Given the description of an element on the screen output the (x, y) to click on. 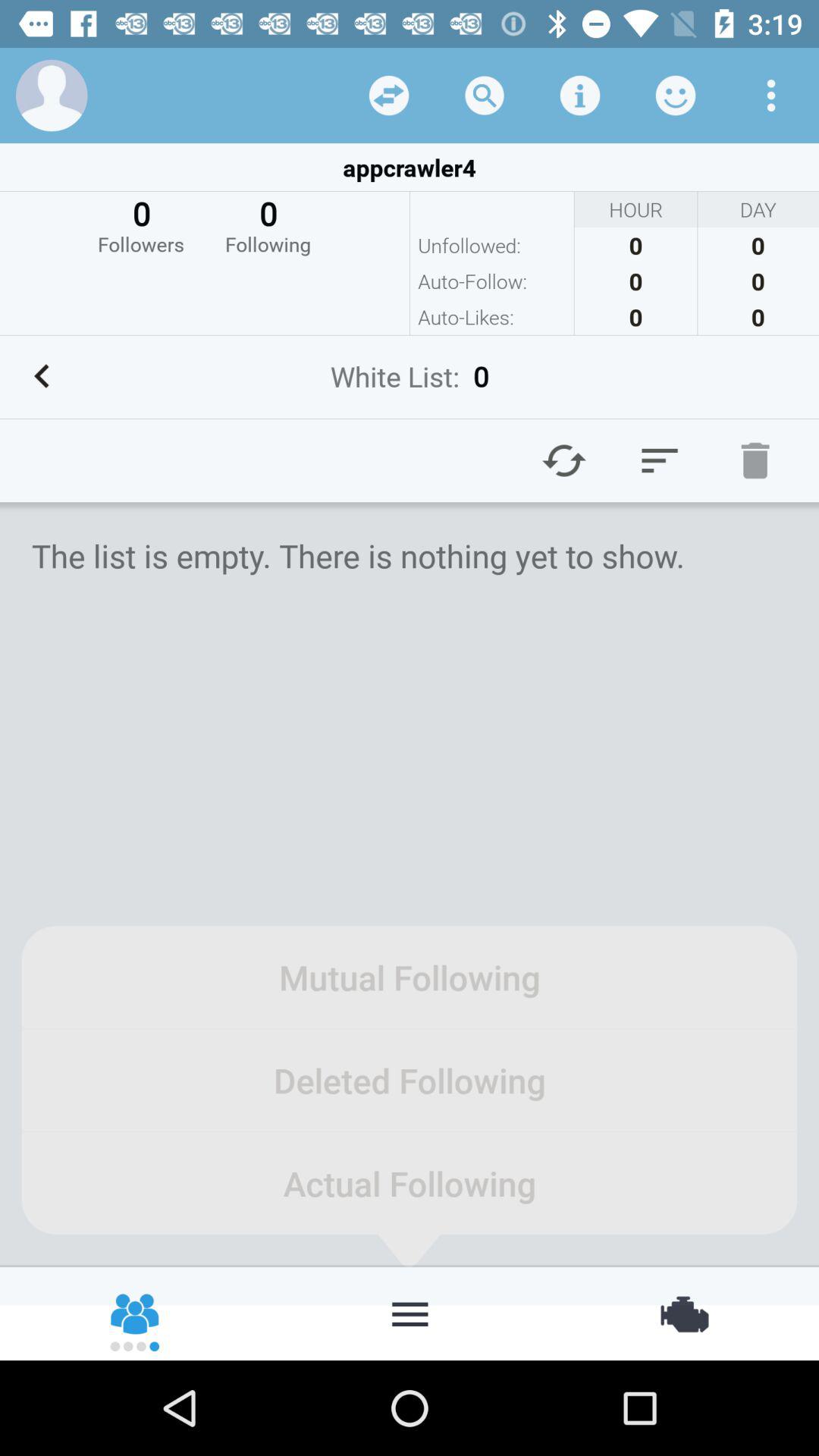
search (484, 95)
